Given the description of an element on the screen output the (x, y) to click on. 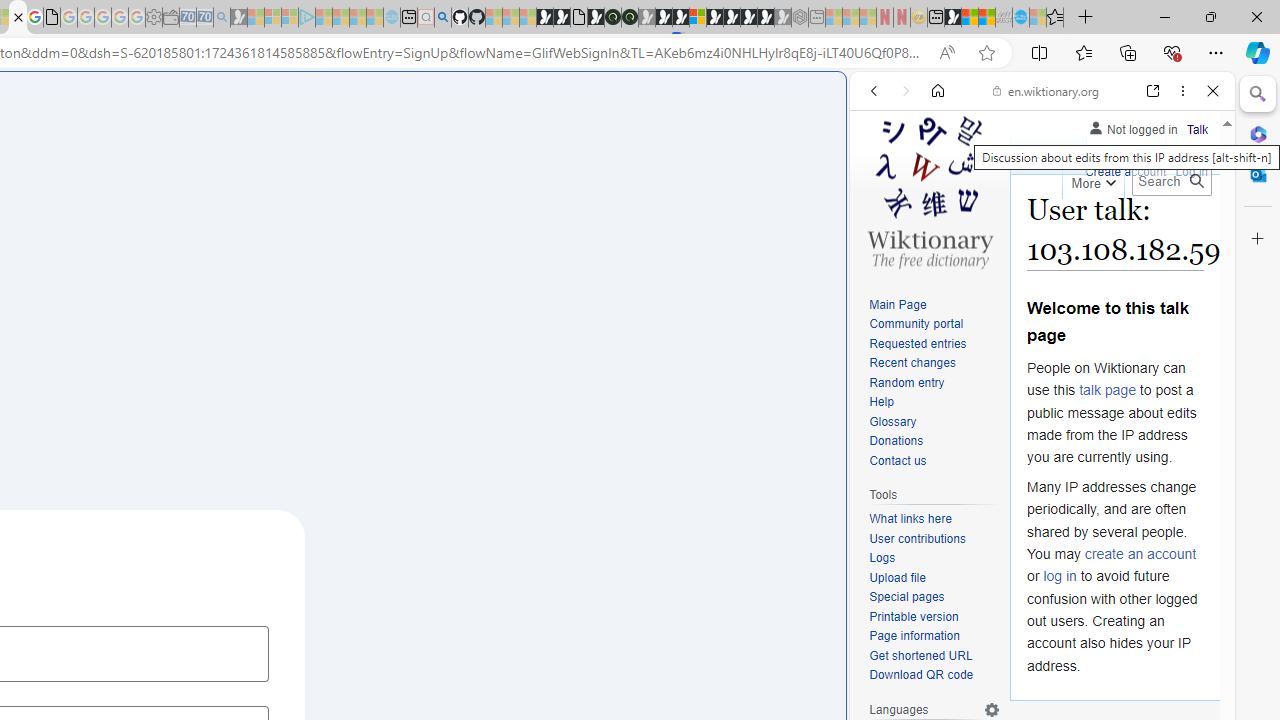
Close split screen (844, 102)
Logs (934, 558)
Glossary (934, 421)
create an account (1140, 553)
Community portal (934, 324)
